Given the description of an element on the screen output the (x, y) to click on. 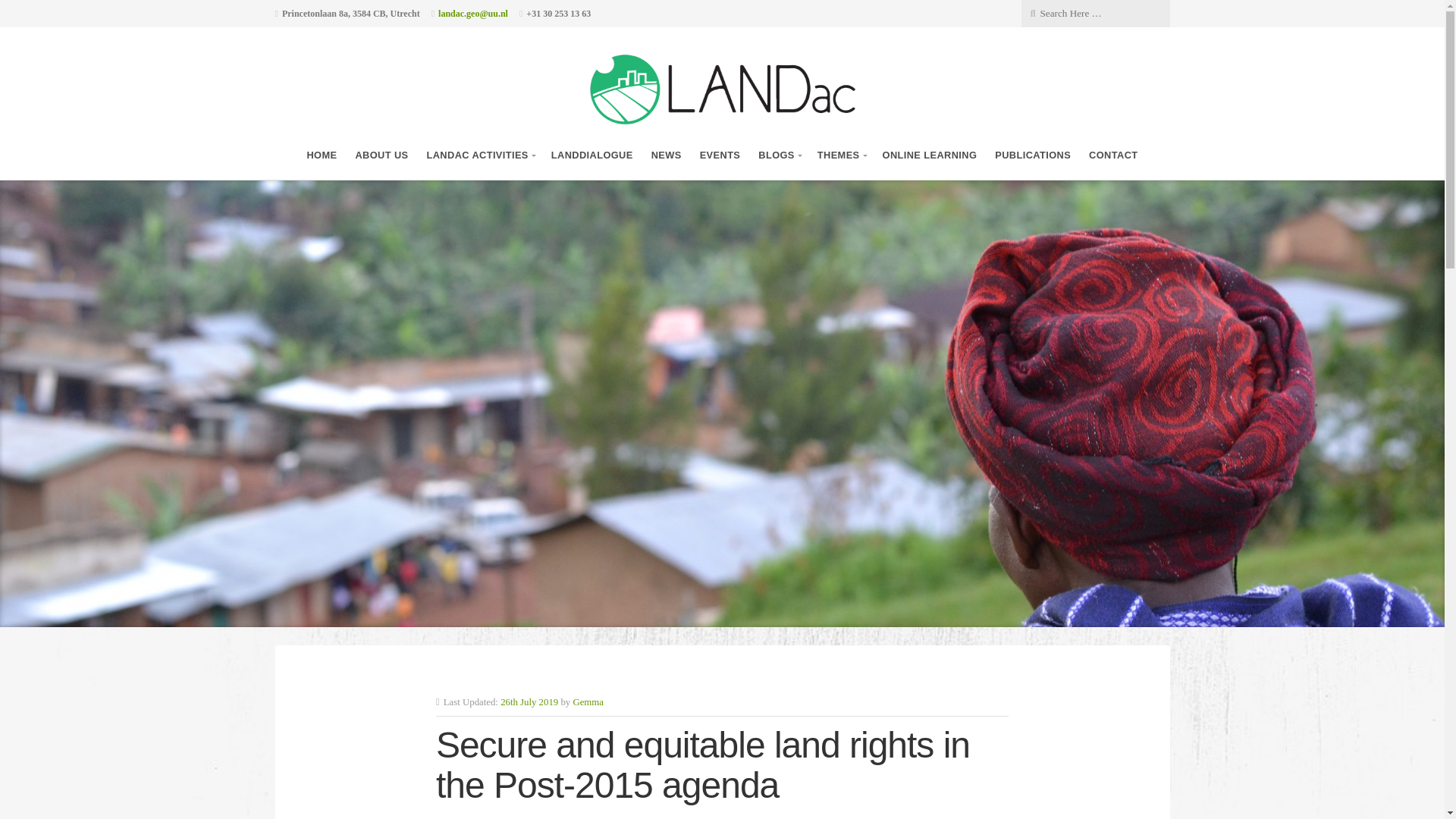
PUBLICATIONS (1032, 155)
ABOUT US (381, 155)
LANDDIALOGUE (592, 155)
EVENTS (720, 155)
15:30 (528, 701)
THEMES (840, 155)
LANDAC ACTIVITIES (479, 155)
NEWS (665, 155)
View all posts by Gemma (588, 701)
BLOGS (778, 155)
